Given the description of an element on the screen output the (x, y) to click on. 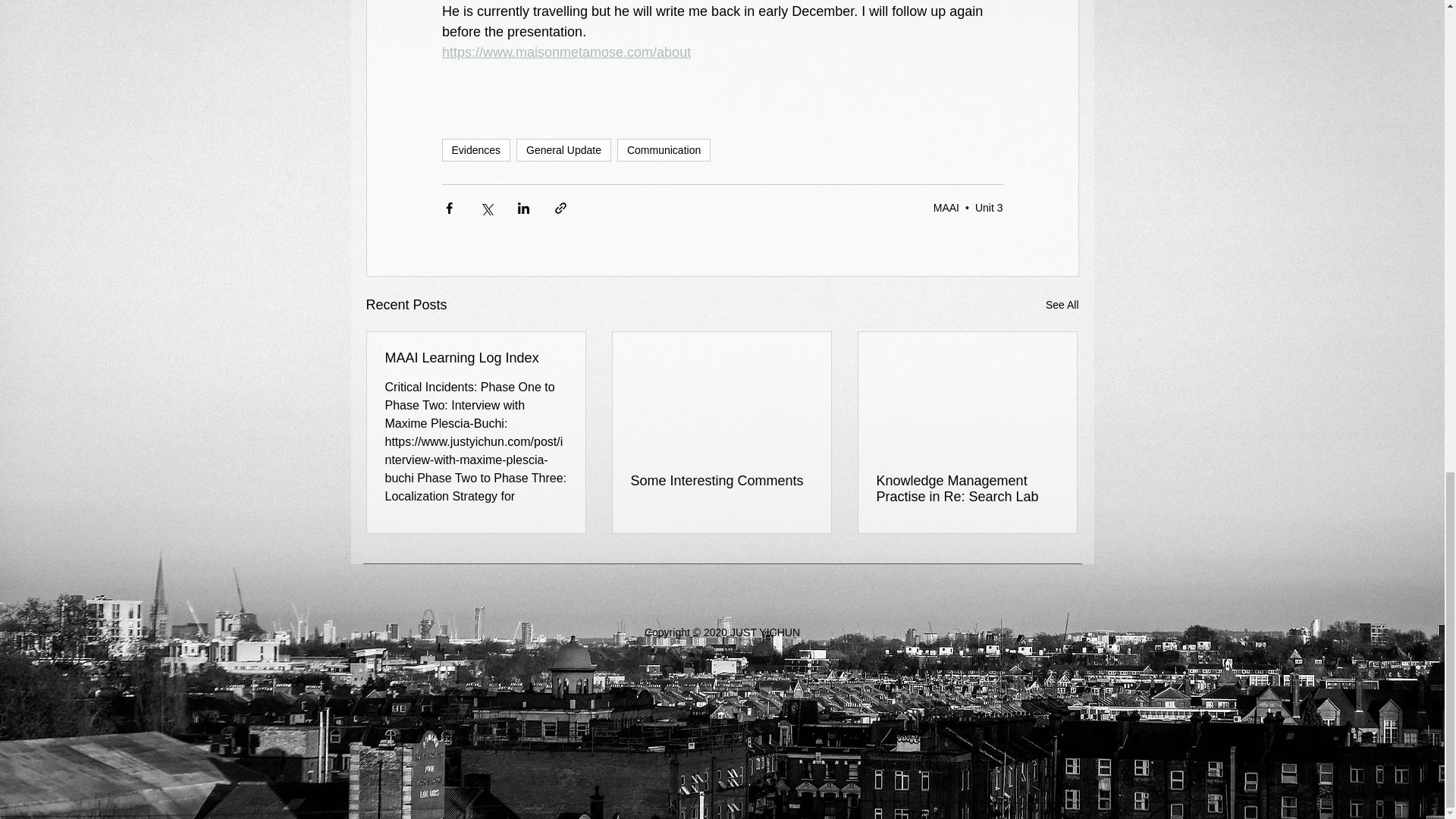
JUST YICHUN (764, 632)
MAAI (946, 207)
Evidences (476, 149)
General Update (563, 149)
Communication (663, 149)
Unit 3 (989, 207)
See All (1061, 305)
Knowledge Management Practise in Re: Search Lab (967, 489)
MAAI Learning Log Index (476, 358)
Some Interesting Comments (721, 480)
